Given the description of an element on the screen output the (x, y) to click on. 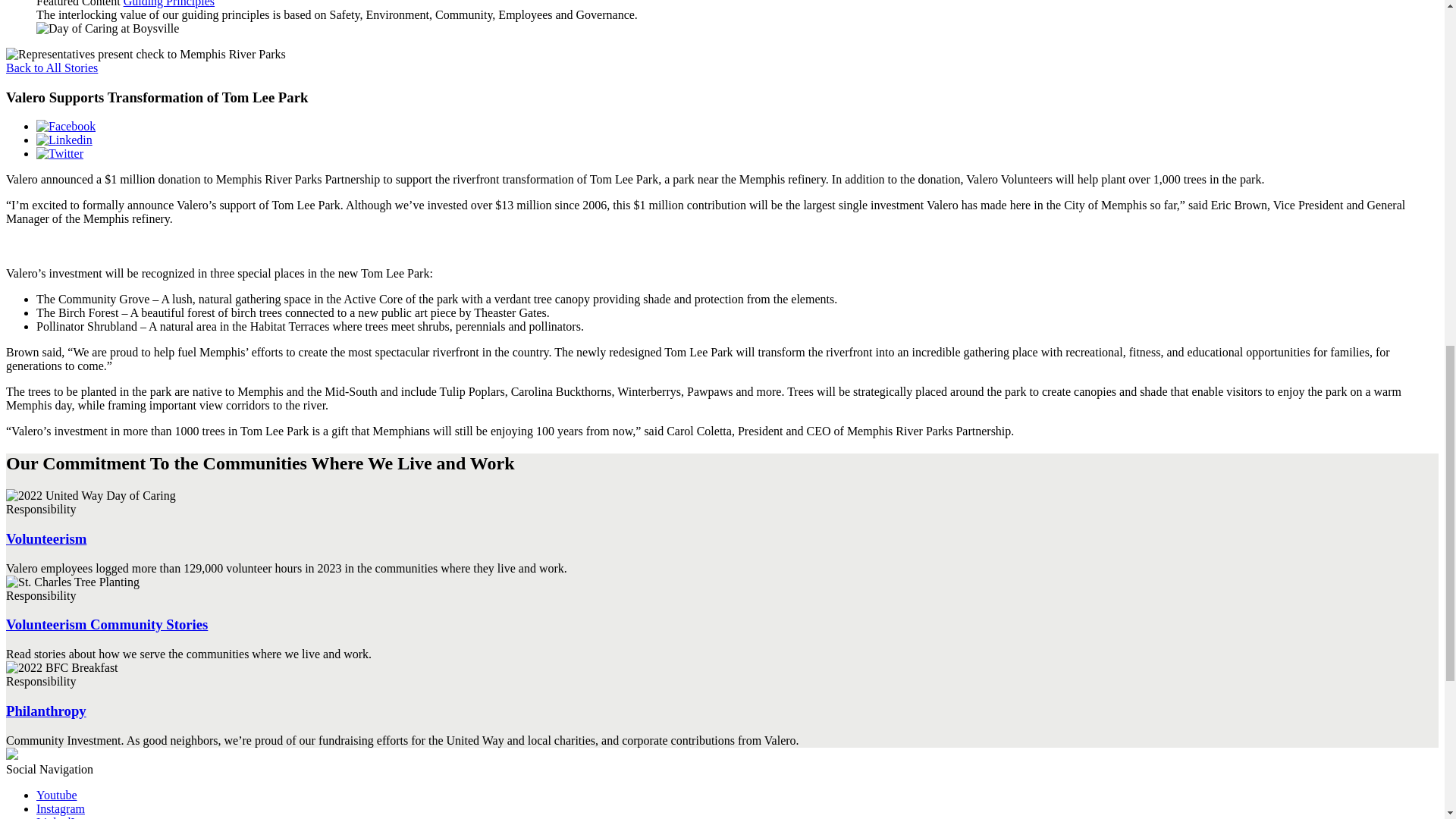
Twitter (59, 153)
Facebook (66, 125)
Linkedin (64, 139)
